Given the description of an element on the screen output the (x, y) to click on. 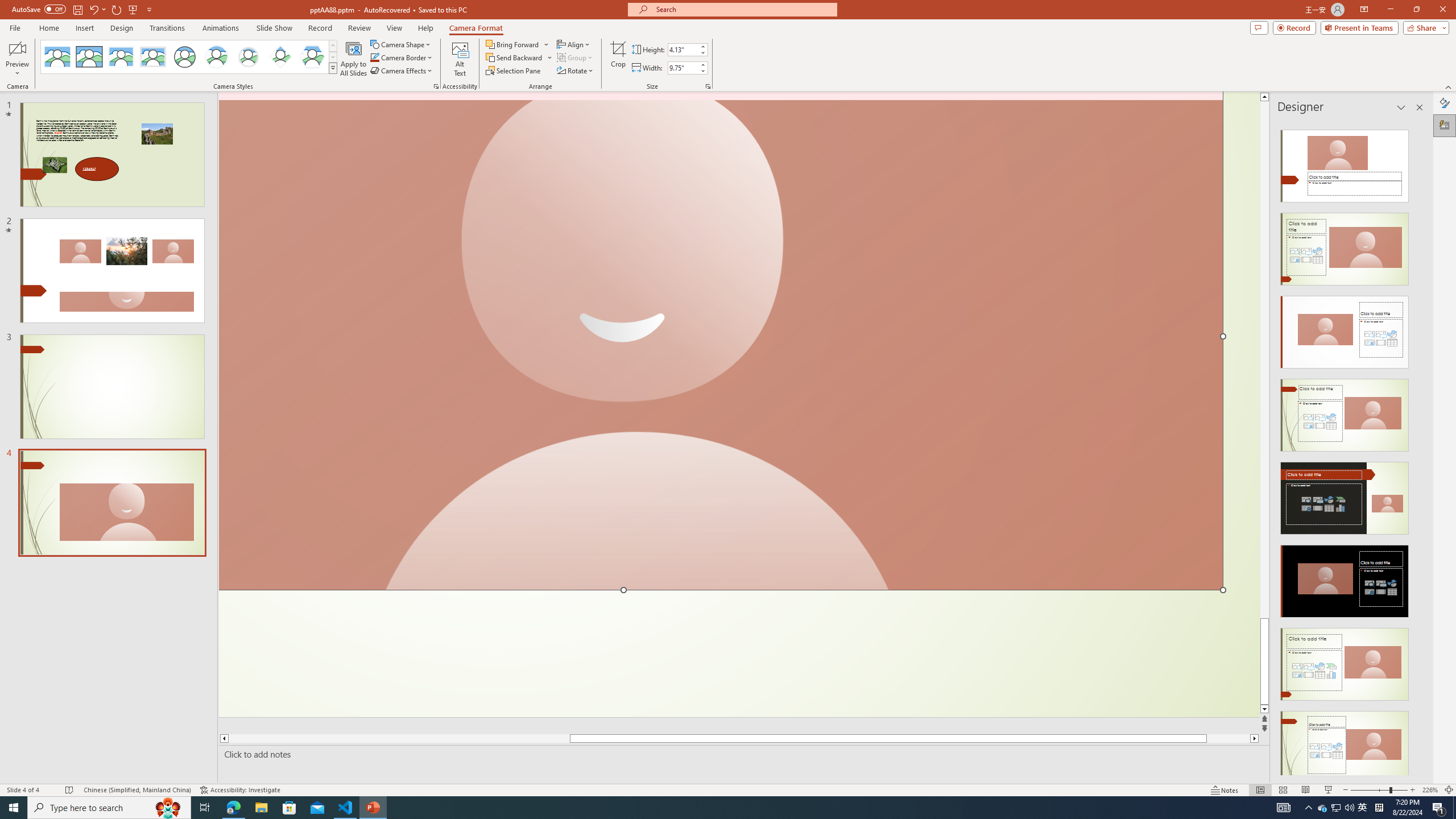
Align (574, 44)
Crop (617, 58)
Send Backward (514, 56)
Cameo Height (682, 49)
Center Shadow Circle (216, 56)
Soft Edge Circle (248, 56)
Group (575, 56)
